Given the description of an element on the screen output the (x, y) to click on. 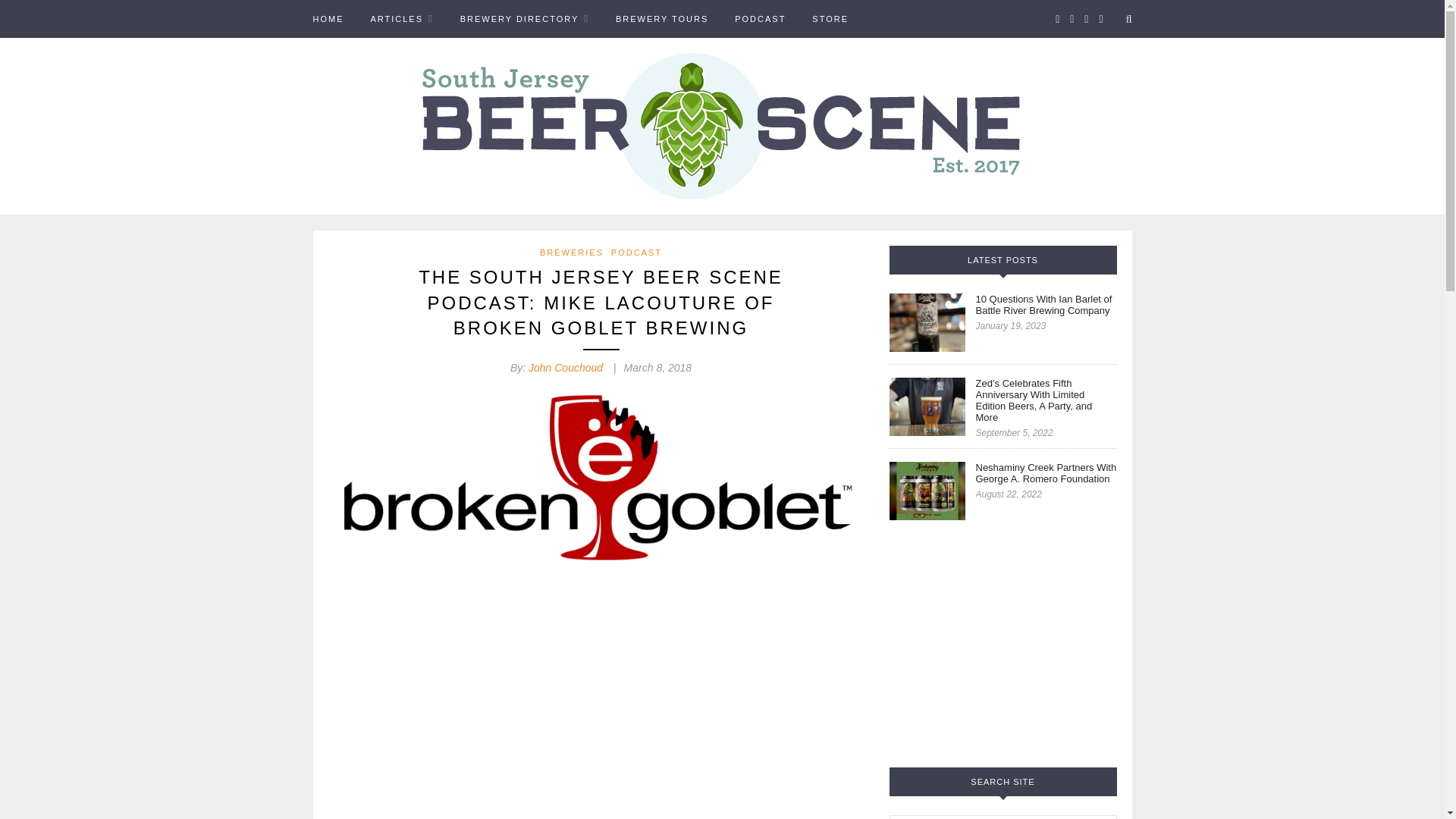
BREWERY TOURS (661, 18)
John Couchoud (565, 367)
Posts by John Couchoud (565, 367)
STORE (830, 18)
ARTICLES (400, 18)
BREWERIES (572, 252)
PODCAST (760, 18)
PODCAST (636, 252)
BREWERY DIRECTORY (524, 18)
